Given the description of an element on the screen output the (x, y) to click on. 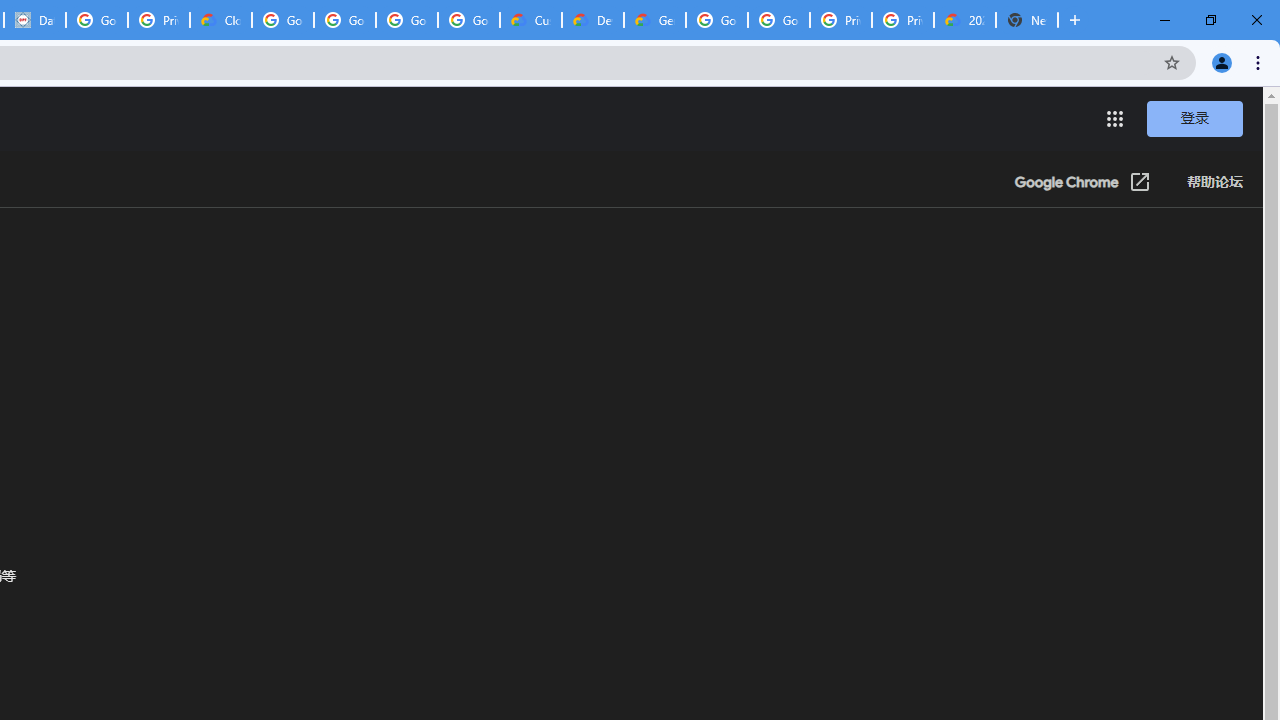
Gemini for Business and Developers | Google Cloud (654, 20)
Google Workspace - Specific Terms (406, 20)
Google Workspace - Specific Terms (468, 20)
Google Cloud Platform (716, 20)
